Given the description of an element on the screen output the (x, y) to click on. 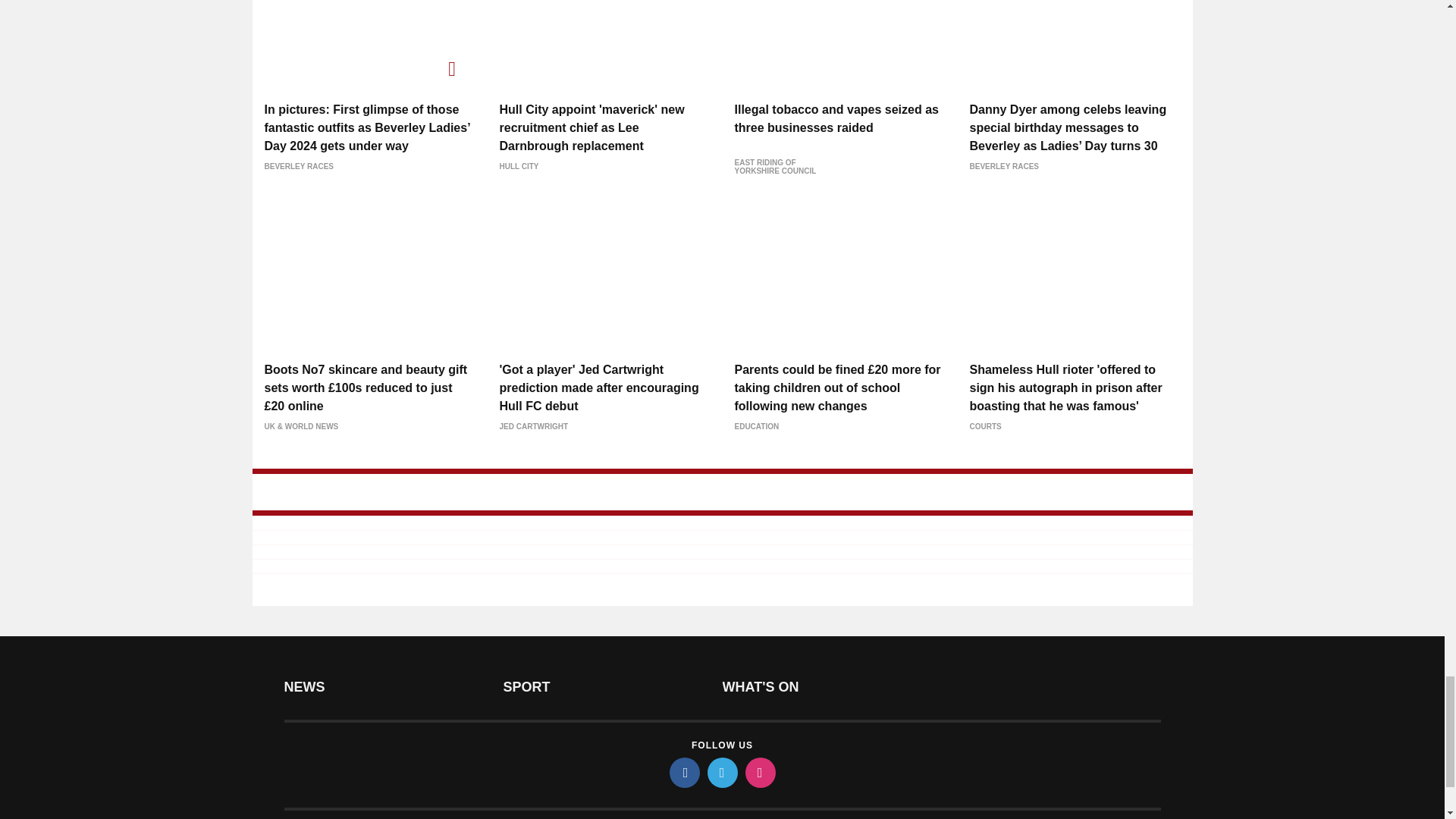
facebook (683, 772)
instagram (759, 772)
twitter (721, 772)
